Given the description of an element on the screen output the (x, y) to click on. 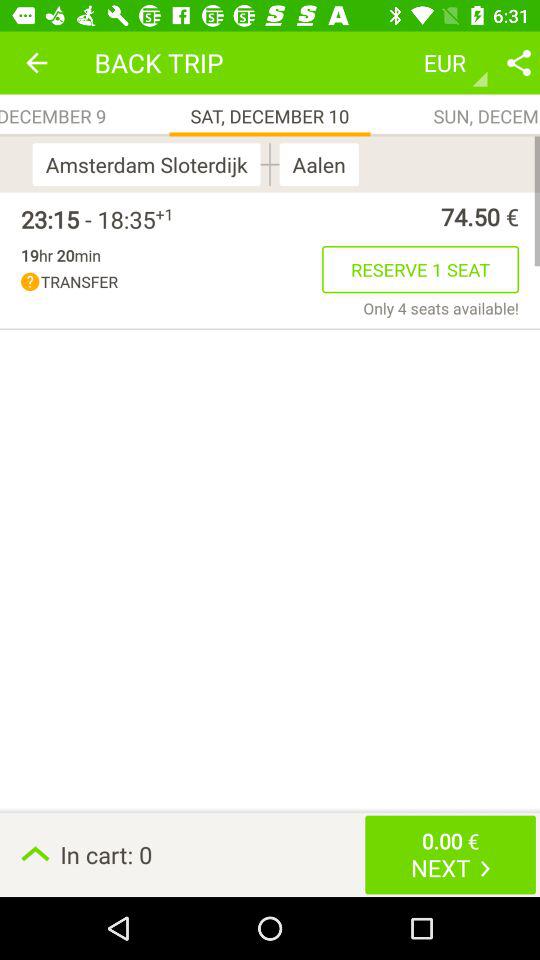
share trip data (519, 62)
